Given the description of an element on the screen output the (x, y) to click on. 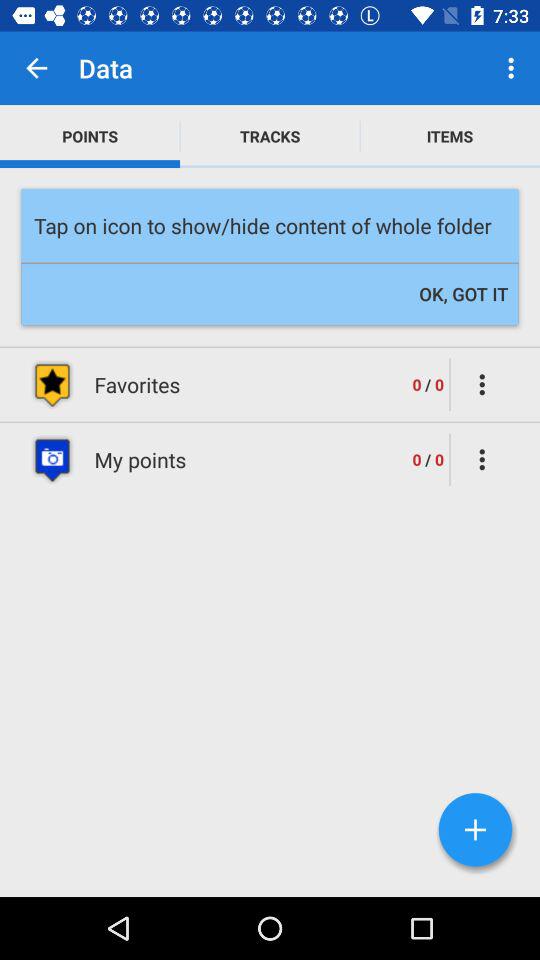
scroll until tracks icon (270, 136)
